Given the description of an element on the screen output the (x, y) to click on. 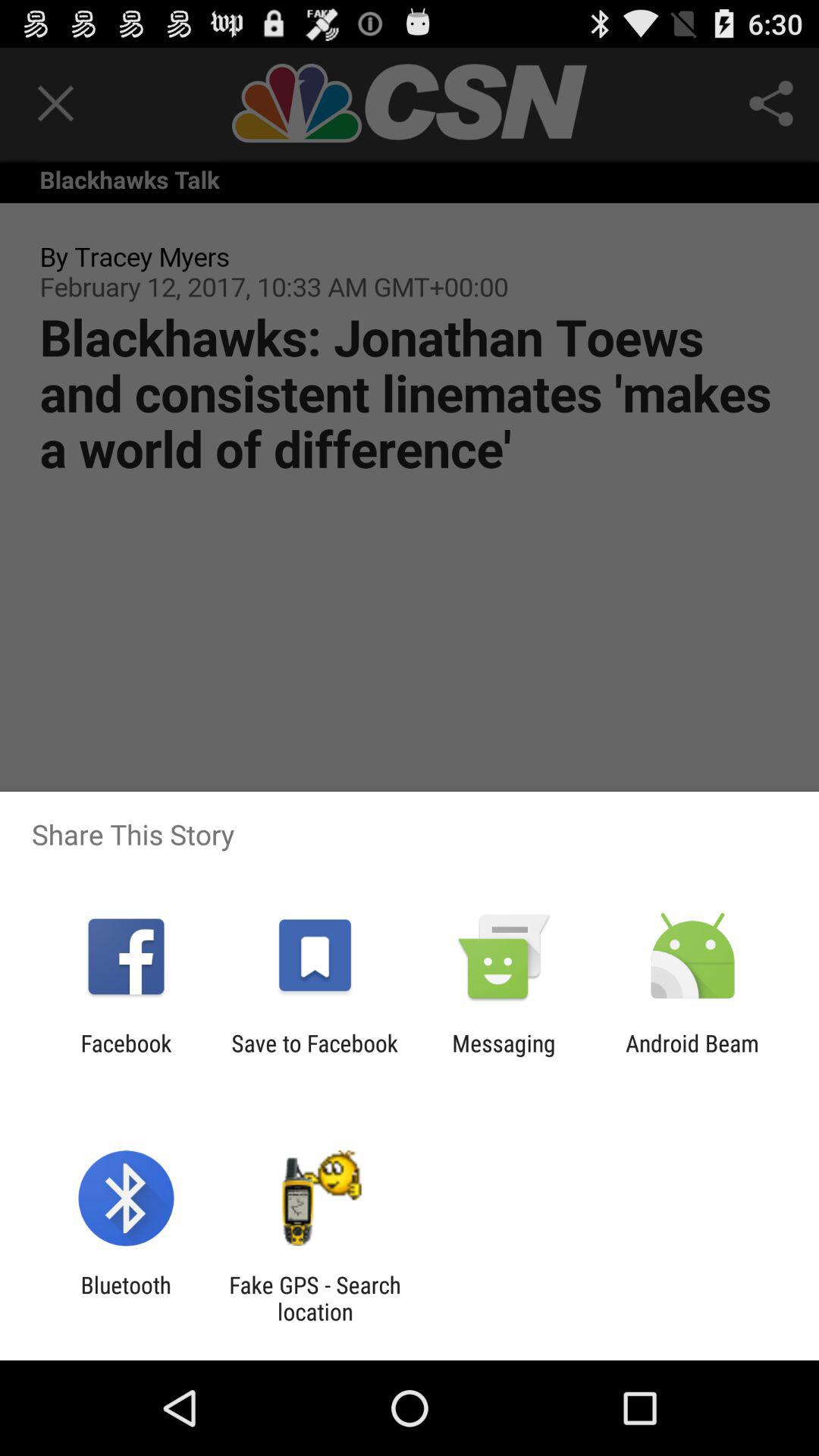
turn on the item next to facebook icon (314, 1056)
